Given the description of an element on the screen output the (x, y) to click on. 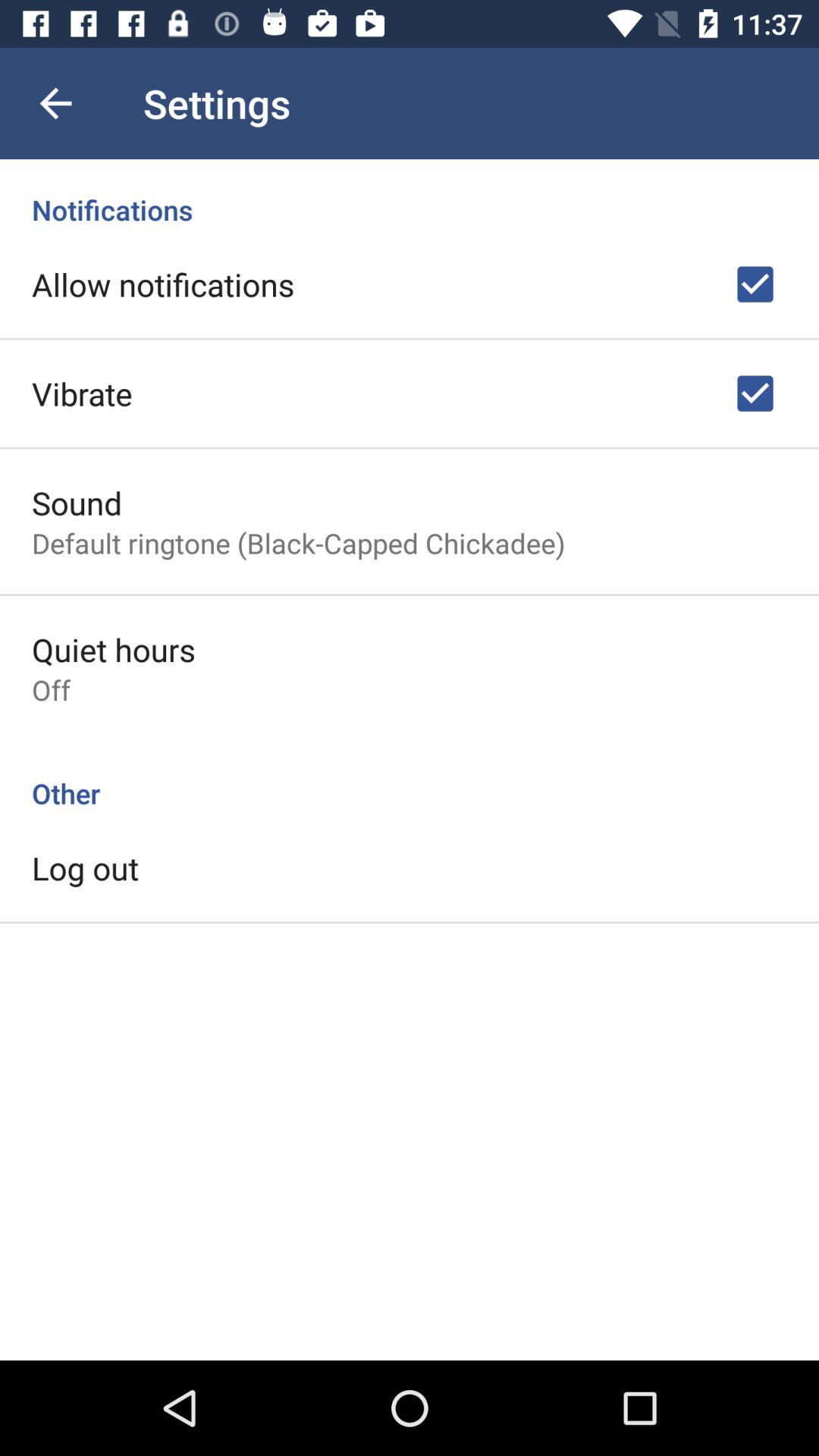
launch the vibrate (81, 393)
